Given the description of an element on the screen output the (x, y) to click on. 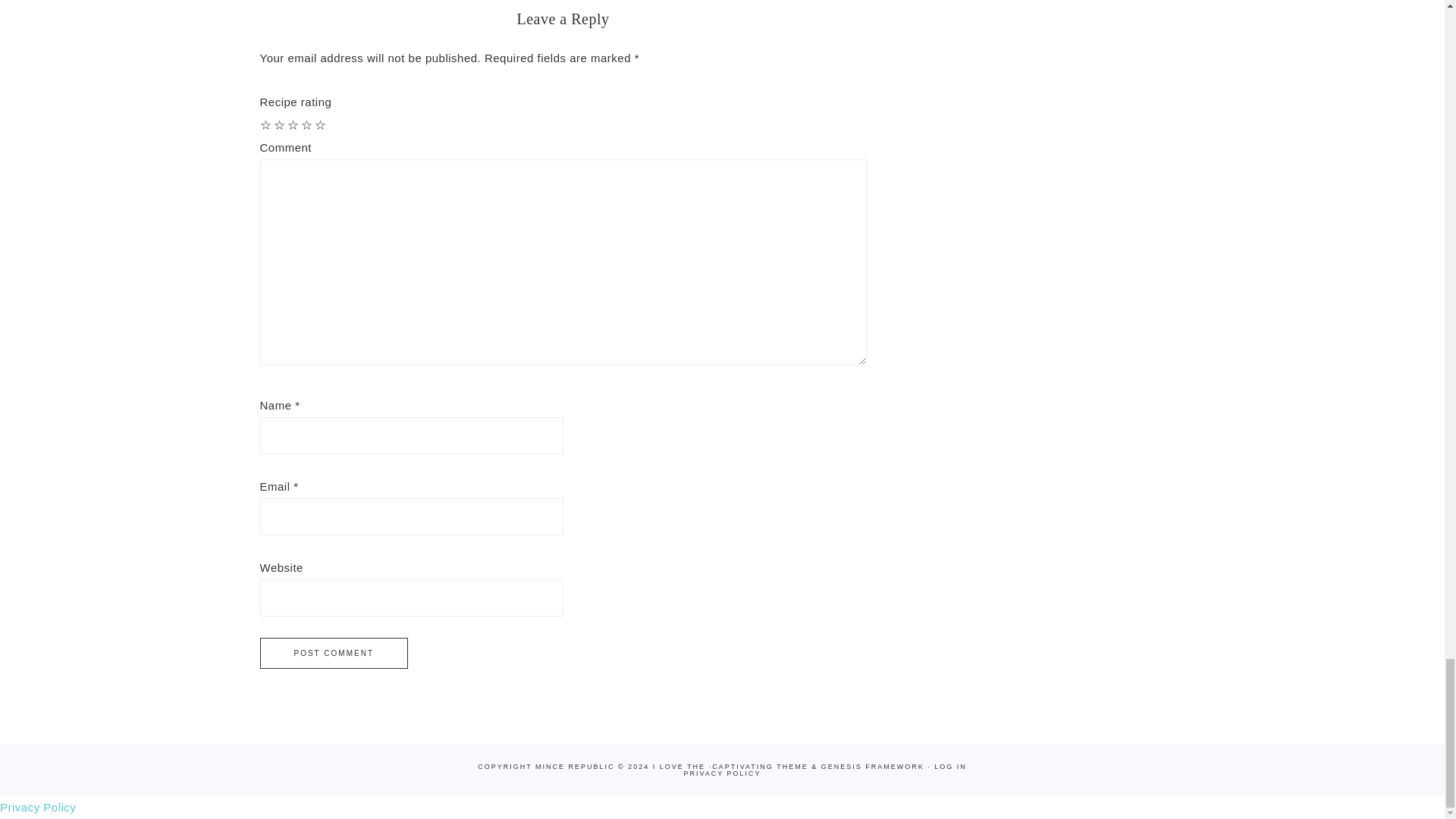
Post Comment (333, 653)
